Given the description of an element on the screen output the (x, y) to click on. 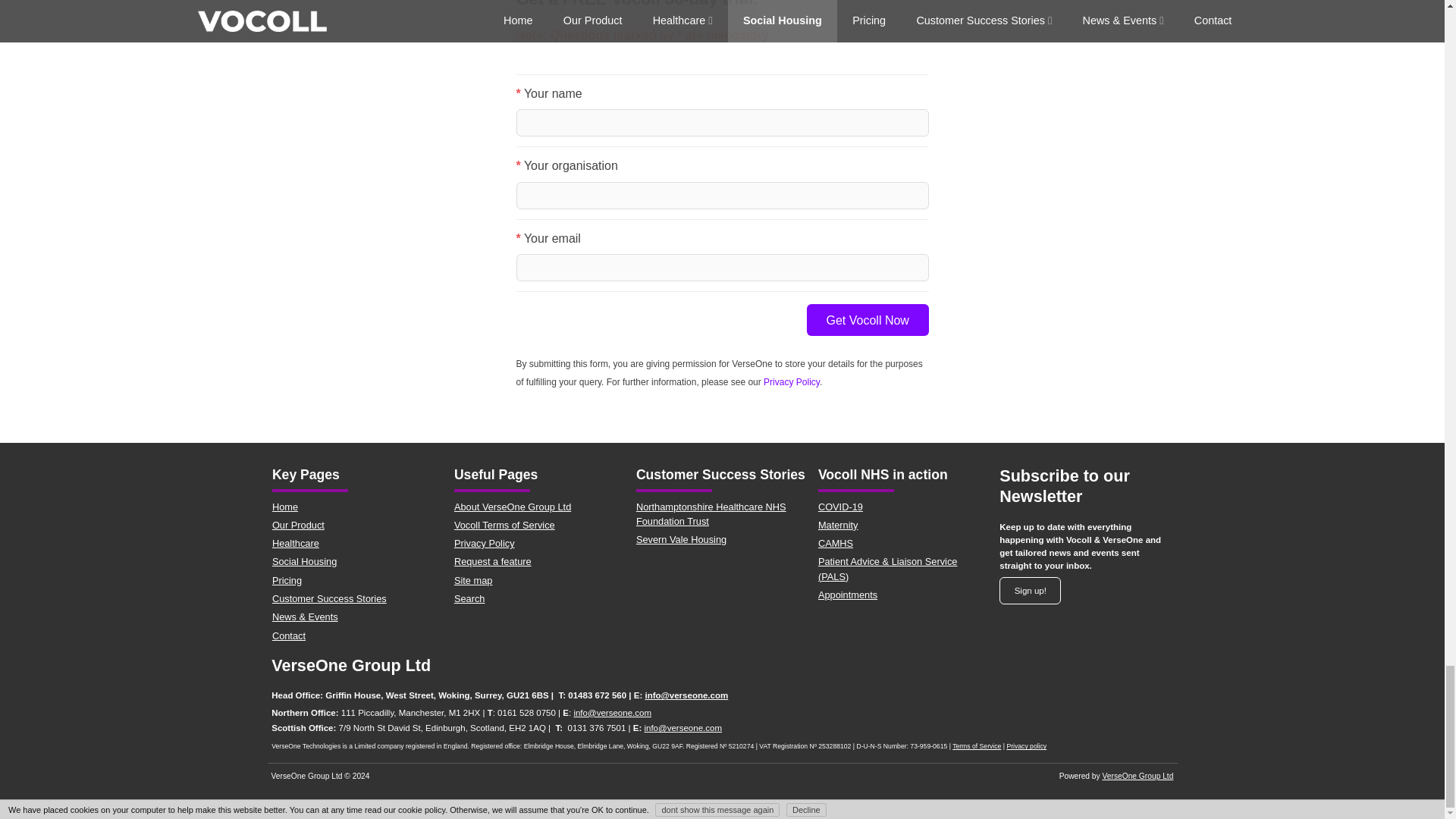
Privacy Policy (790, 381)
Get Vocoll Now (867, 319)
Privacy Policy (790, 381)
Get Vocoll Now (867, 319)
Subscribe to our Newsletter (1029, 591)
